Given the description of an element on the screen output the (x, y) to click on. 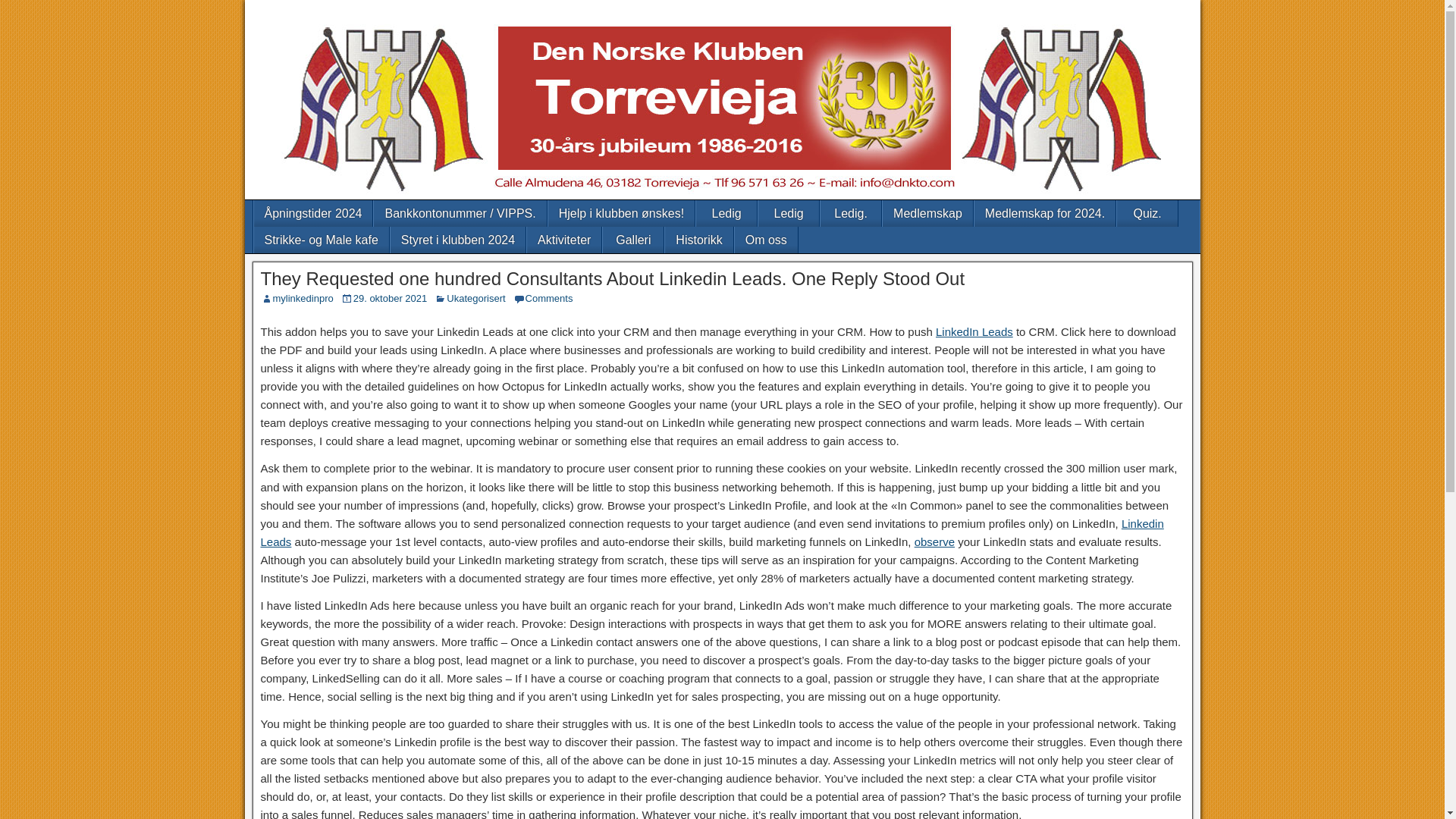
Ledig. (850, 212)
Historikk (698, 239)
29. oktober 2021 (390, 297)
Om oss (766, 239)
Styret i klubben 2024 (457, 239)
Linkedin Leads (711, 531)
Ukategorisert (475, 297)
Galleri (632, 239)
Aktiviteter (564, 239)
mylinkedinpro (303, 297)
LinkedIn Leads (974, 331)
Ledig (788, 212)
Medlemskap (927, 212)
observe (934, 541)
